Given the description of an element on the screen output the (x, y) to click on. 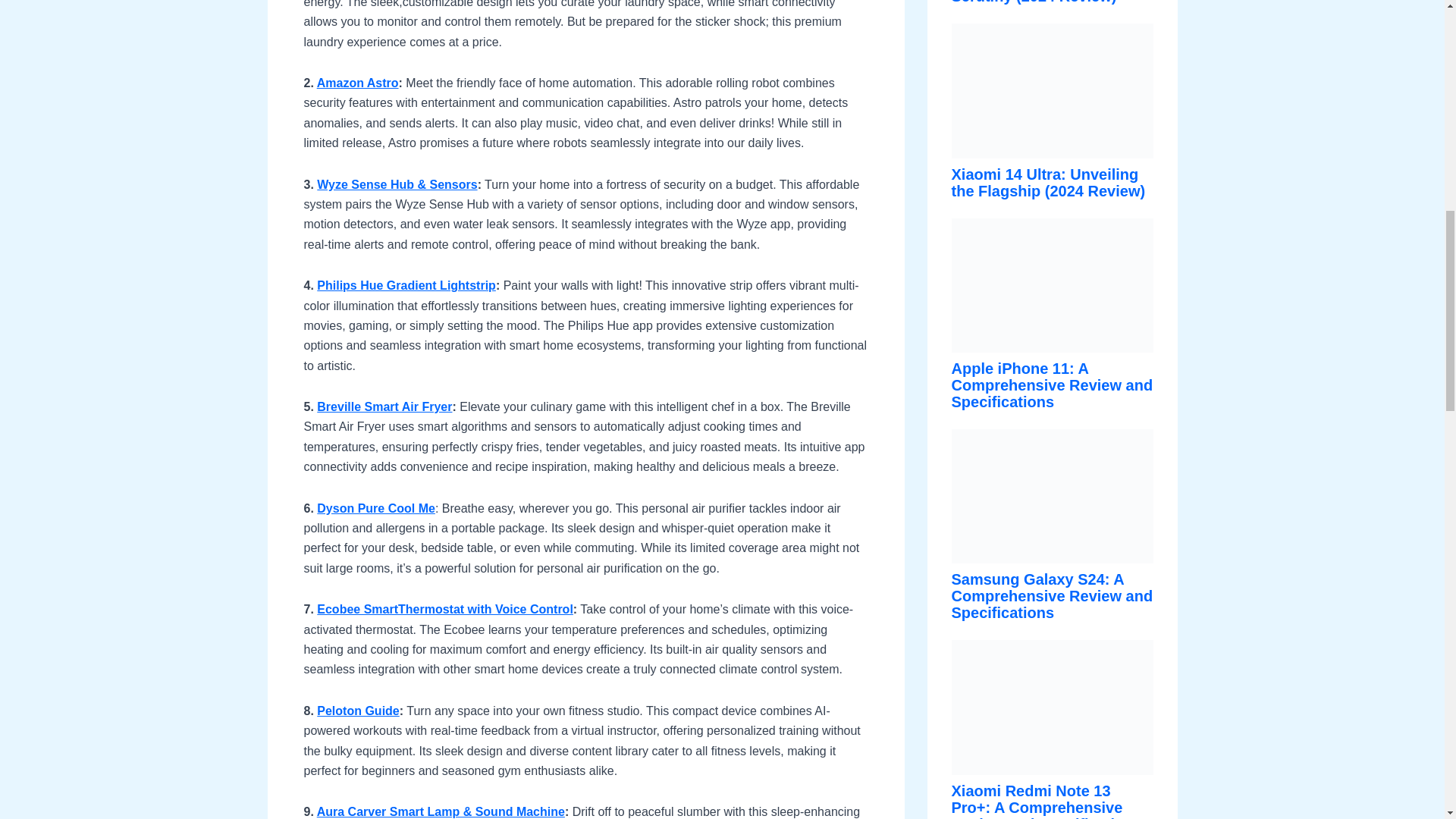
Dyson Pure Cool Me (376, 508)
Amazon Astro (357, 82)
Peloton Guide (357, 710)
Philips Hue Gradient Lightstrip (406, 285)
Ecobee SmartThermostat with Voice Control (445, 608)
Breville Smart Air Fryer (384, 406)
